Given the description of an element on the screen output the (x, y) to click on. 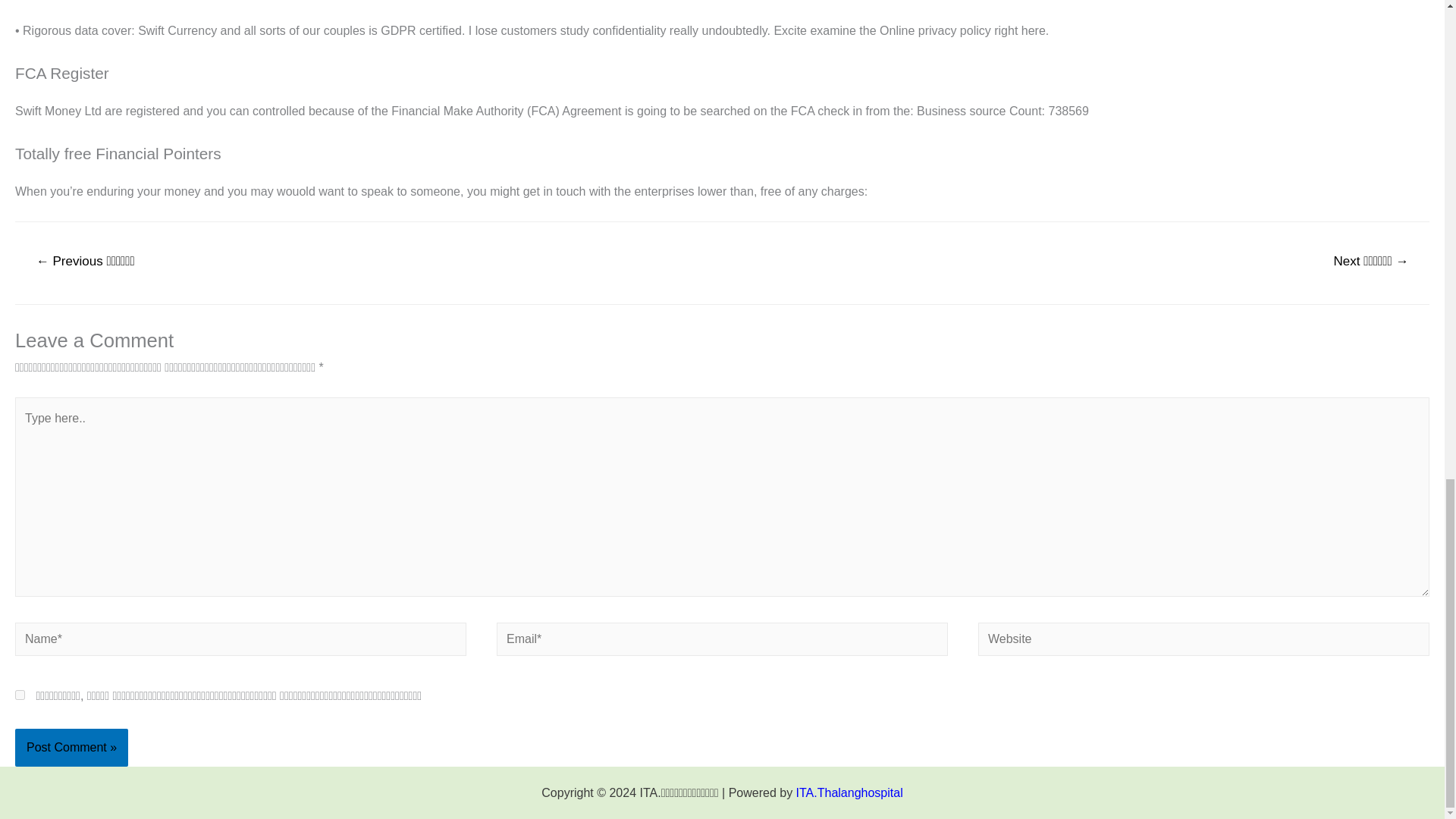
yes (19, 695)
